Given the description of an element on the screen output the (x, y) to click on. 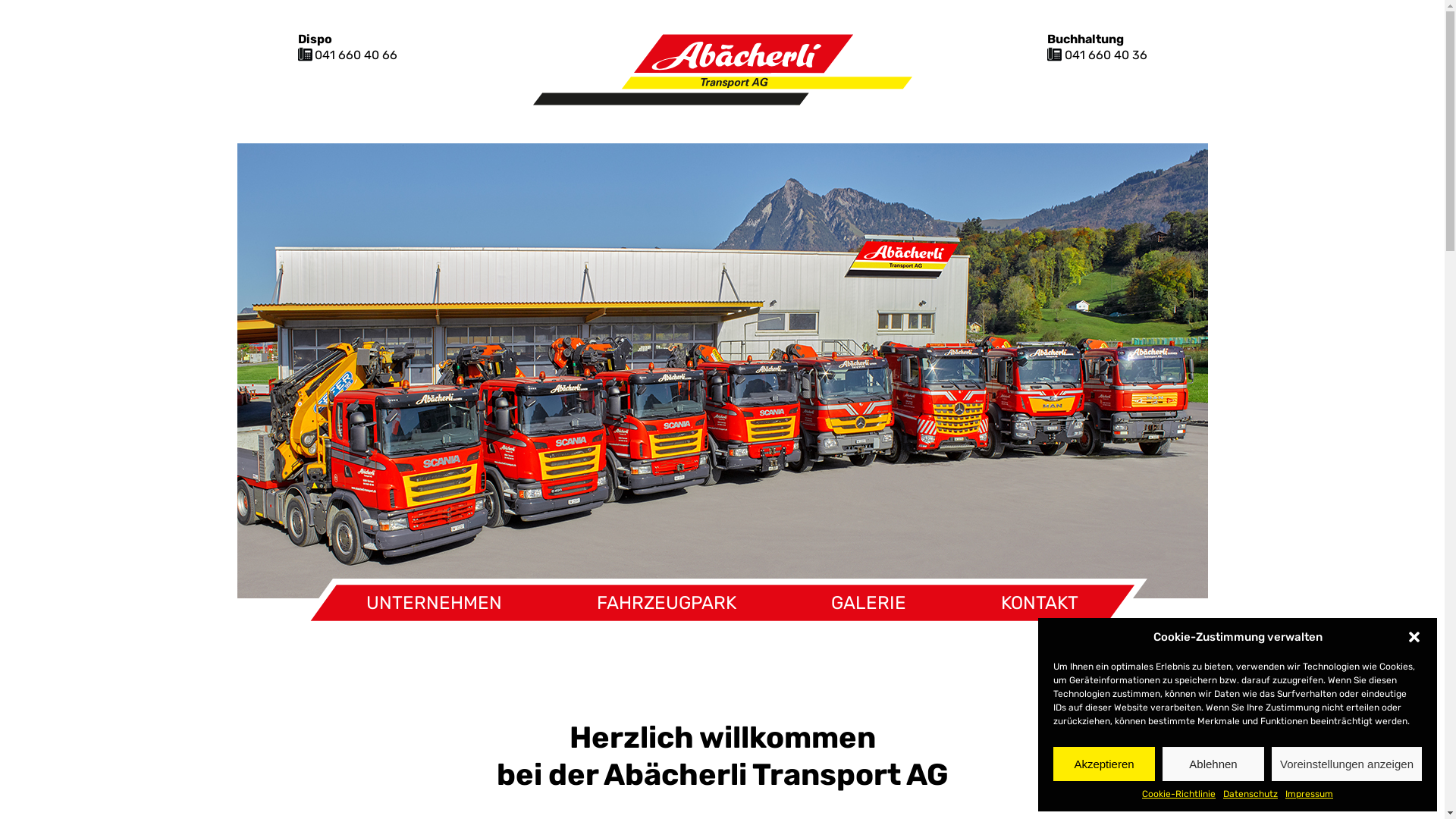
FAHRZEUGPARK Element type: text (666, 602)
Ablehnen Element type: text (1213, 763)
041 660 40 36 Element type: text (1105, 54)
041 660 40 66 Element type: text (355, 54)
UNTERNEHMEN Element type: text (433, 602)
KONTAKT Element type: text (1039, 602)
Cookie-Richtlinie Element type: text (1178, 794)
Datenschutz Element type: text (1250, 794)
Akzeptieren Element type: text (1103, 763)
Impressum Element type: text (1309, 794)
GALERIE Element type: text (868, 602)
Voreinstellungen anzeigen Element type: text (1346, 763)
